Given the description of an element on the screen output the (x, y) to click on. 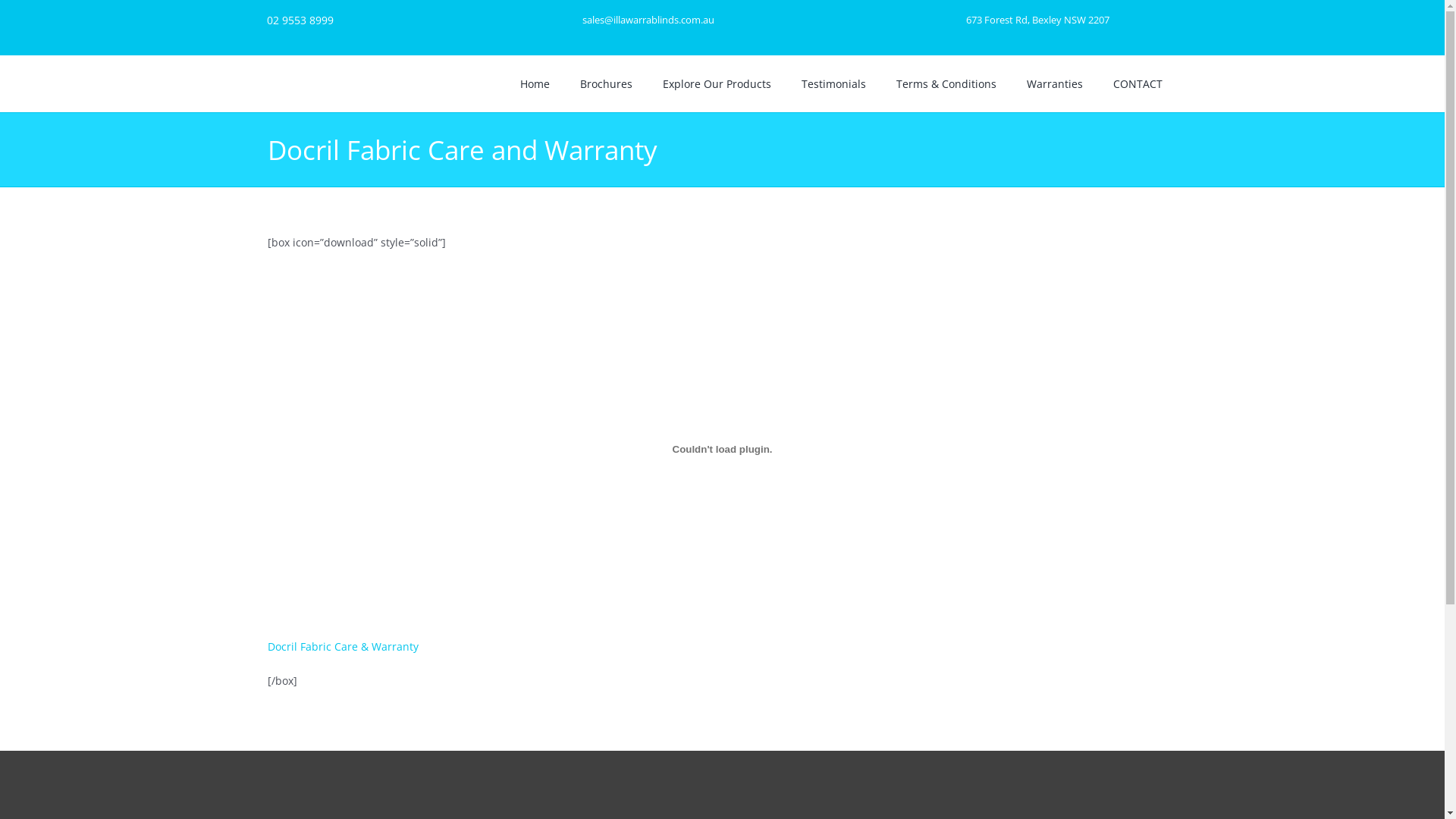
02 9553 8999 Element type: text (299, 19)
Explore Our Products Element type: text (716, 83)
Warranties Element type: text (1054, 83)
Docril Fabric Care & Warranty Element type: text (341, 646)
Brochures Element type: text (605, 83)
sales@illawarrablinds.com.au Element type: text (648, 19)
Testimonials Element type: text (833, 83)
Home Element type: text (534, 83)
Terms & Conditions Element type: text (946, 83)
CONTACT Element type: text (1137, 83)
